Given the description of an element on the screen output the (x, y) to click on. 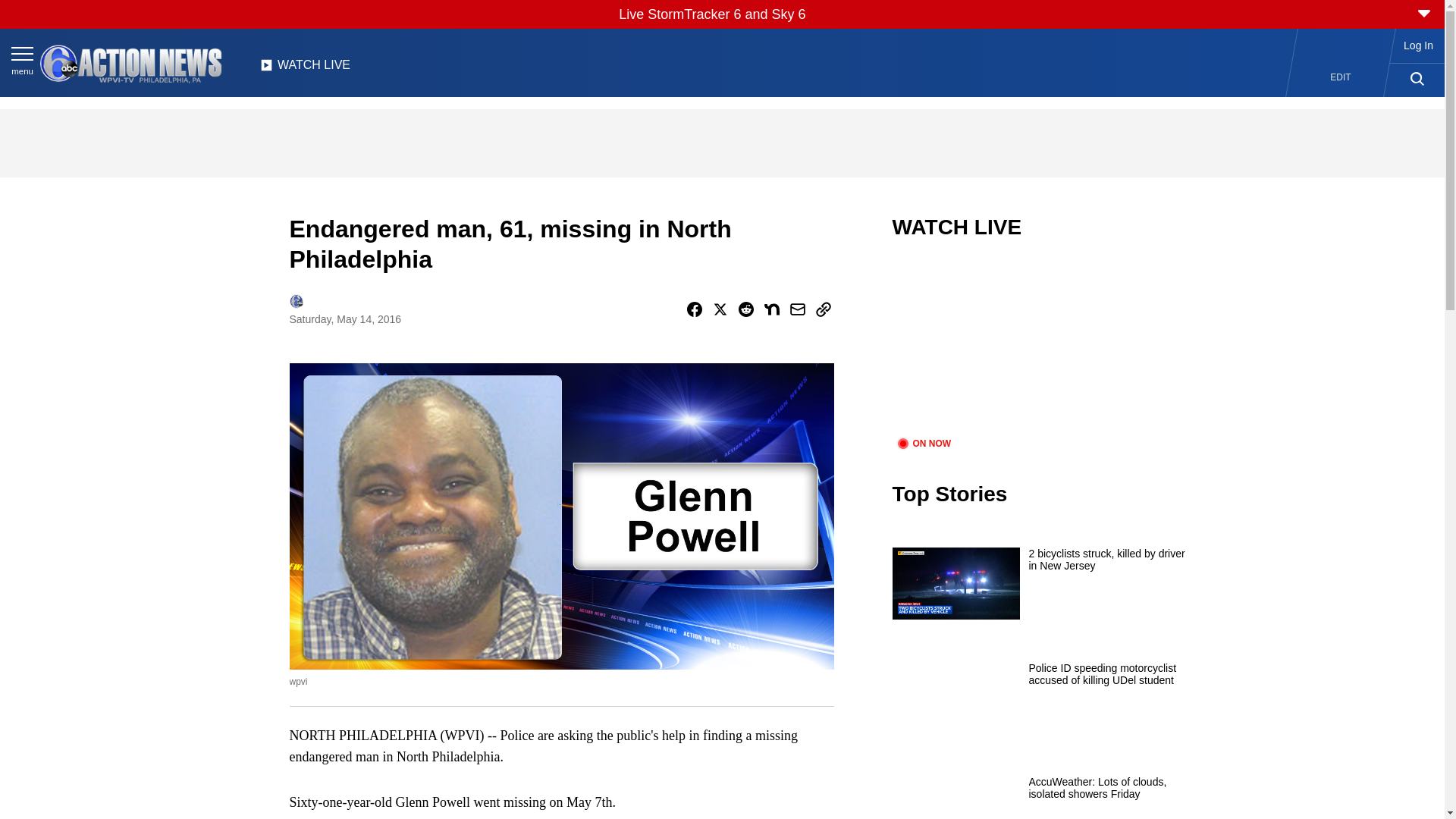
video.title (1043, 347)
WATCH LIVE (305, 69)
EDIT (1340, 77)
